Given the description of an element on the screen output the (x, y) to click on. 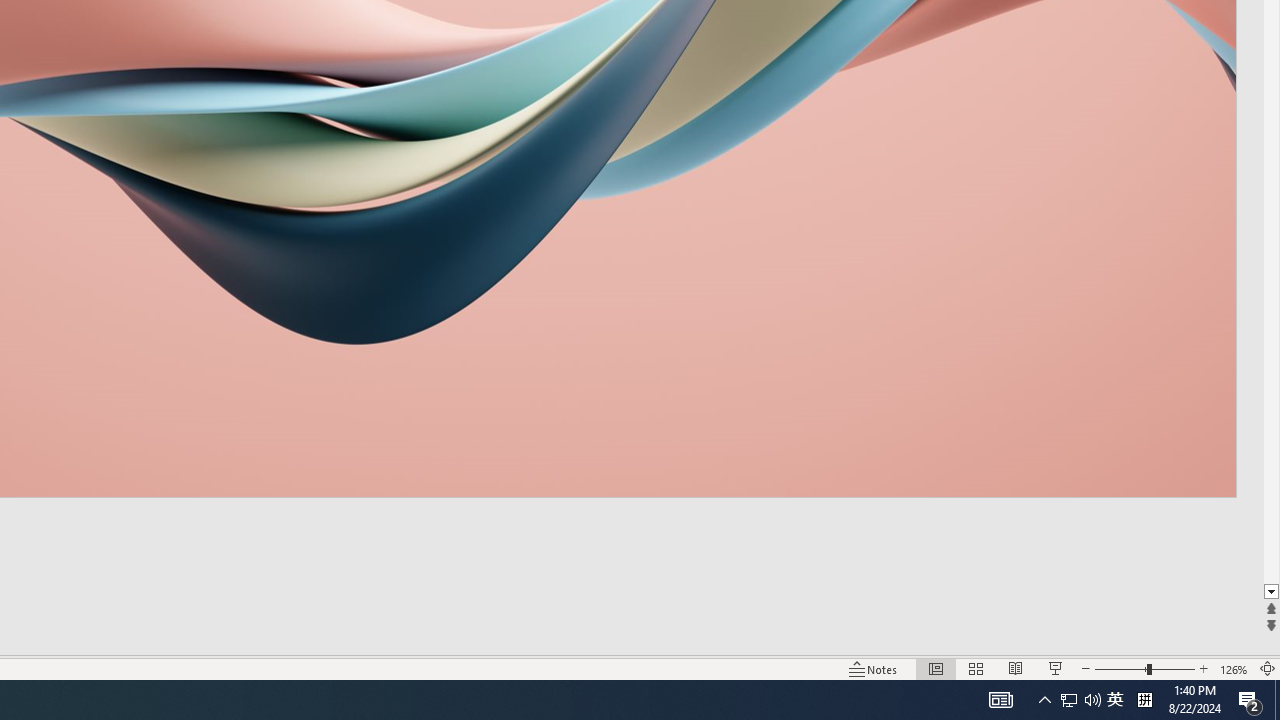
Zoom 126% (1234, 668)
